Given the description of an element on the screen output the (x, y) to click on. 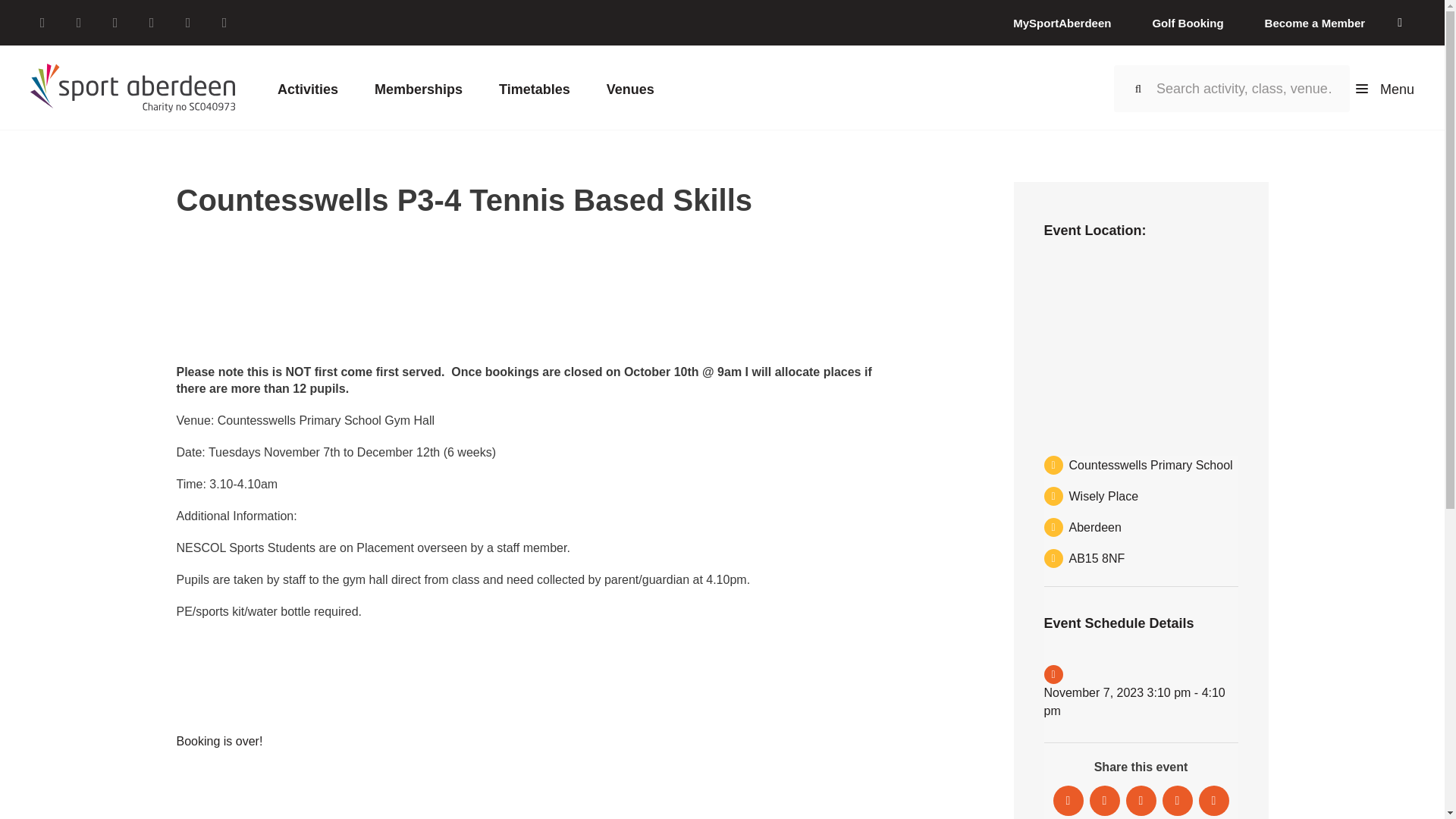
MySportAberdeen (1061, 22)
Visit our Twitter page (78, 22)
Visit our Facebook page (42, 22)
Golf Booking (1187, 22)
Share by Email (1213, 800)
Visit our LinkedIn page (188, 22)
Memberships (418, 87)
Visit our TikTok page (151, 22)
Become a Member (1315, 22)
Visit our YouTube page (223, 22)
